Given the description of an element on the screen output the (x, y) to click on. 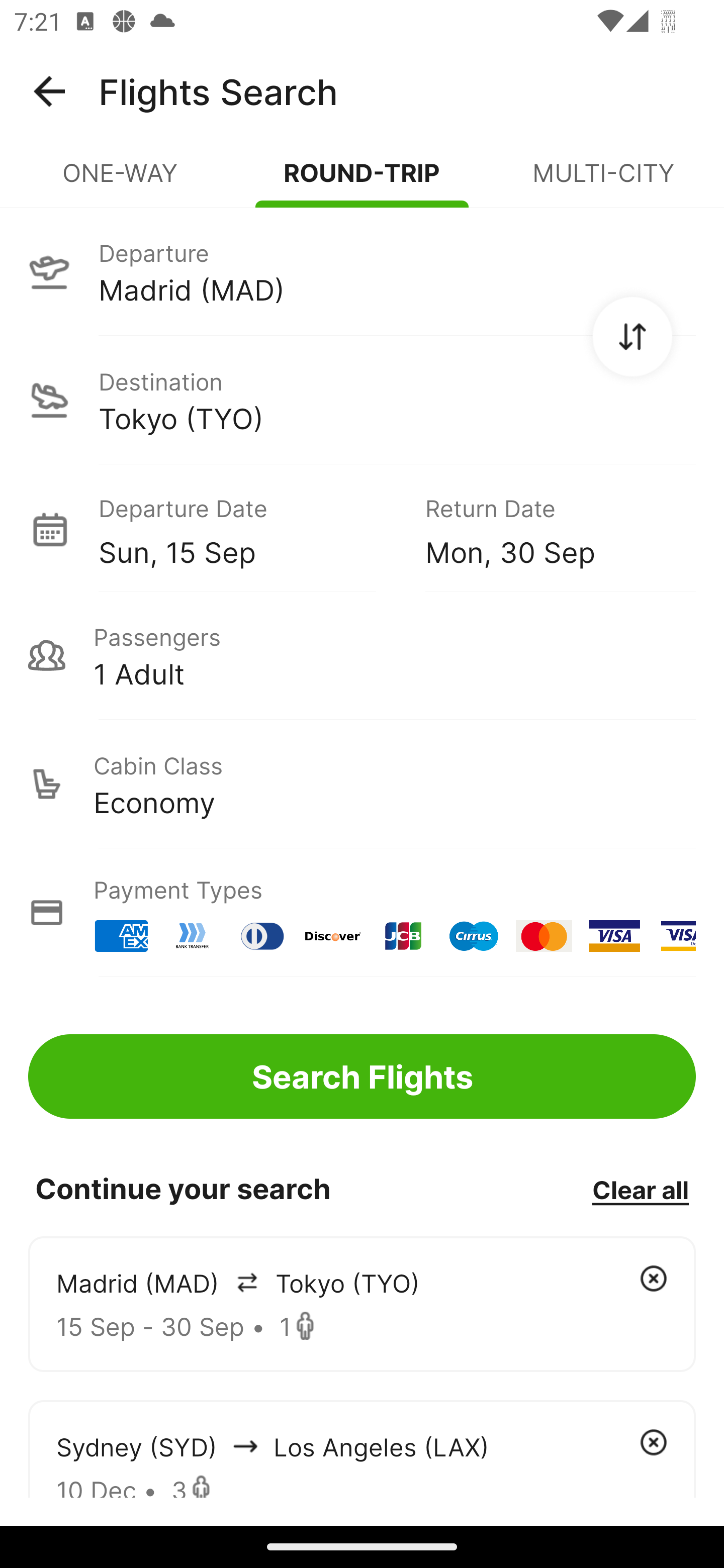
ONE-WAY (120, 180)
ROUND-TRIP (361, 180)
MULTI-CITY (603, 180)
Departure Madrid (MAD) (362, 270)
Destination Tokyo (TYO) (362, 400)
Departure Date Sun, 15 Sep (247, 528)
Return Date Mon, 30 Sep (546, 528)
Passengers 1 Adult (362, 655)
Cabin Class Economy (362, 783)
Payment Types (362, 912)
Search Flights (361, 1075)
Clear all (640, 1189)
